Given the description of an element on the screen output the (x, y) to click on. 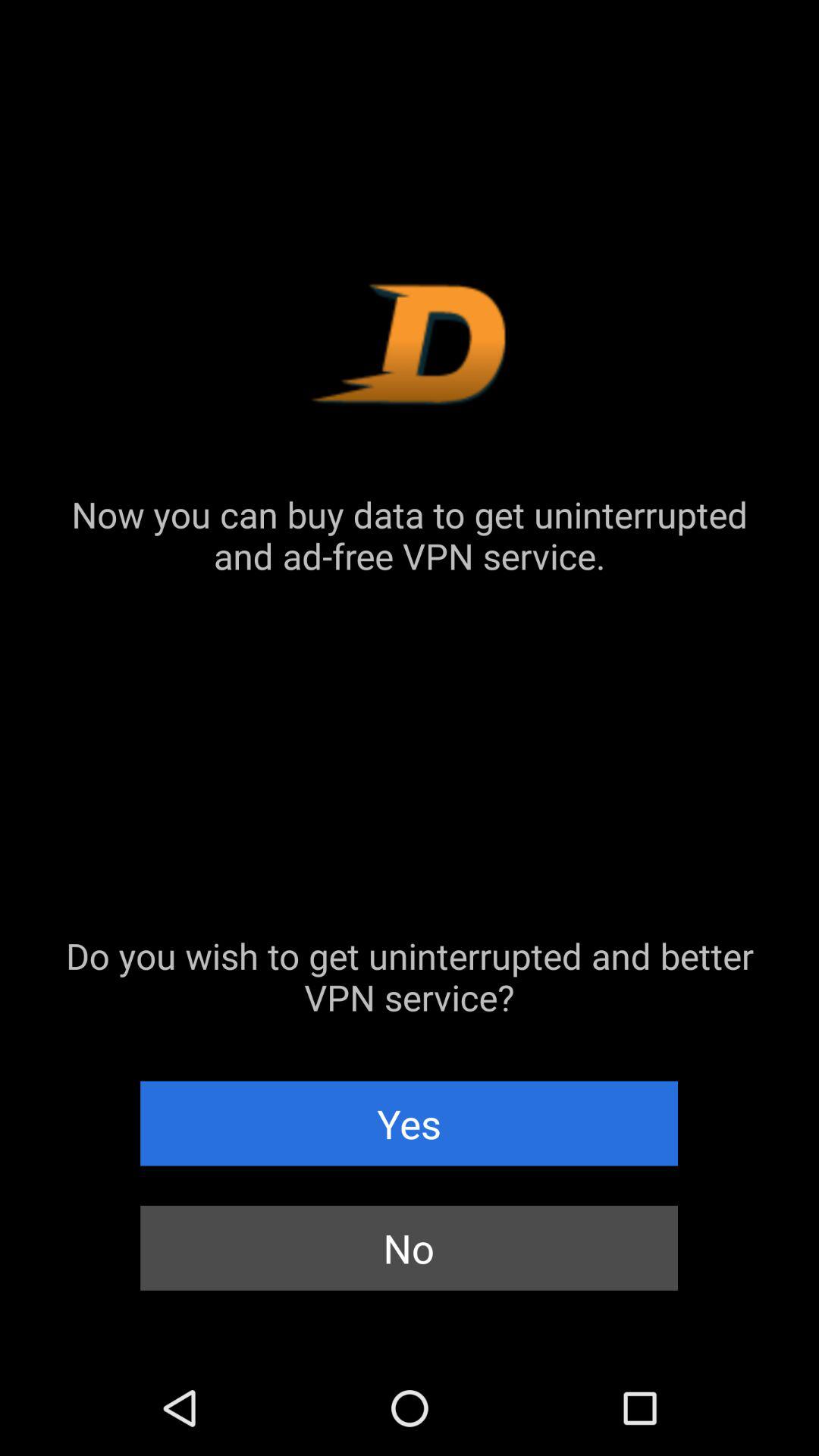
choose the icon below yes icon (408, 1247)
